Given the description of an element on the screen output the (x, y) to click on. 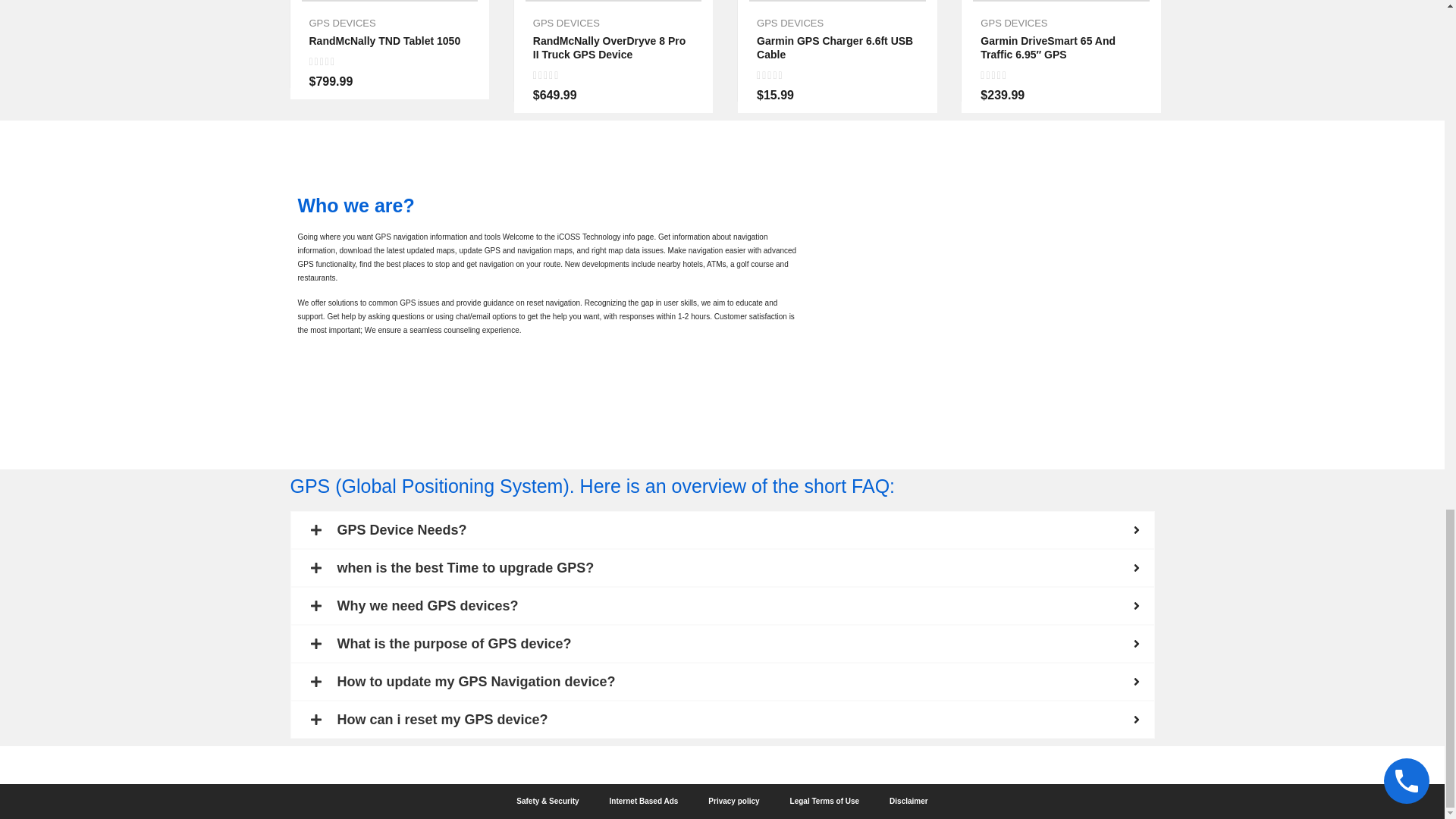
Garmin GPS Charger 6.6ft USB Cable (834, 47)
GPS DEVICES (790, 22)
GPS DEVICES (341, 22)
GPS DEVICES (1012, 22)
GPS DEVICES (565, 22)
RandMcNally TND Tablet 1050 (384, 40)
RandMcNally OverDryve 8 Pro II Truck GPS Device (608, 47)
